Given the description of an element on the screen output the (x, y) to click on. 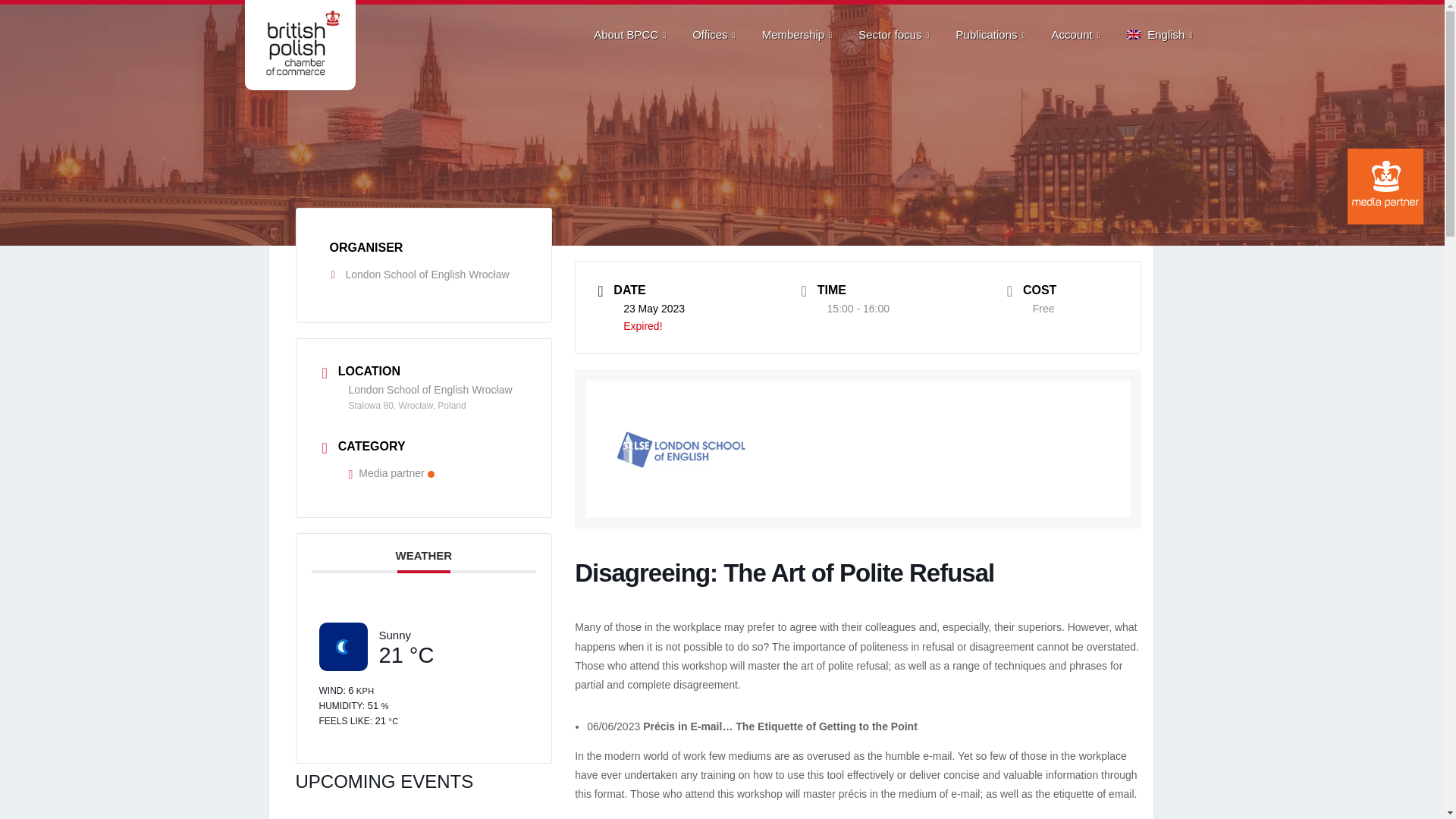
English (1161, 34)
Sector focus (895, 34)
Membership (799, 34)
Publications (992, 34)
Offices (715, 34)
wpforms-submit (1150, 402)
About BPCC (631, 34)
